Given the description of an element on the screen output the (x, y) to click on. 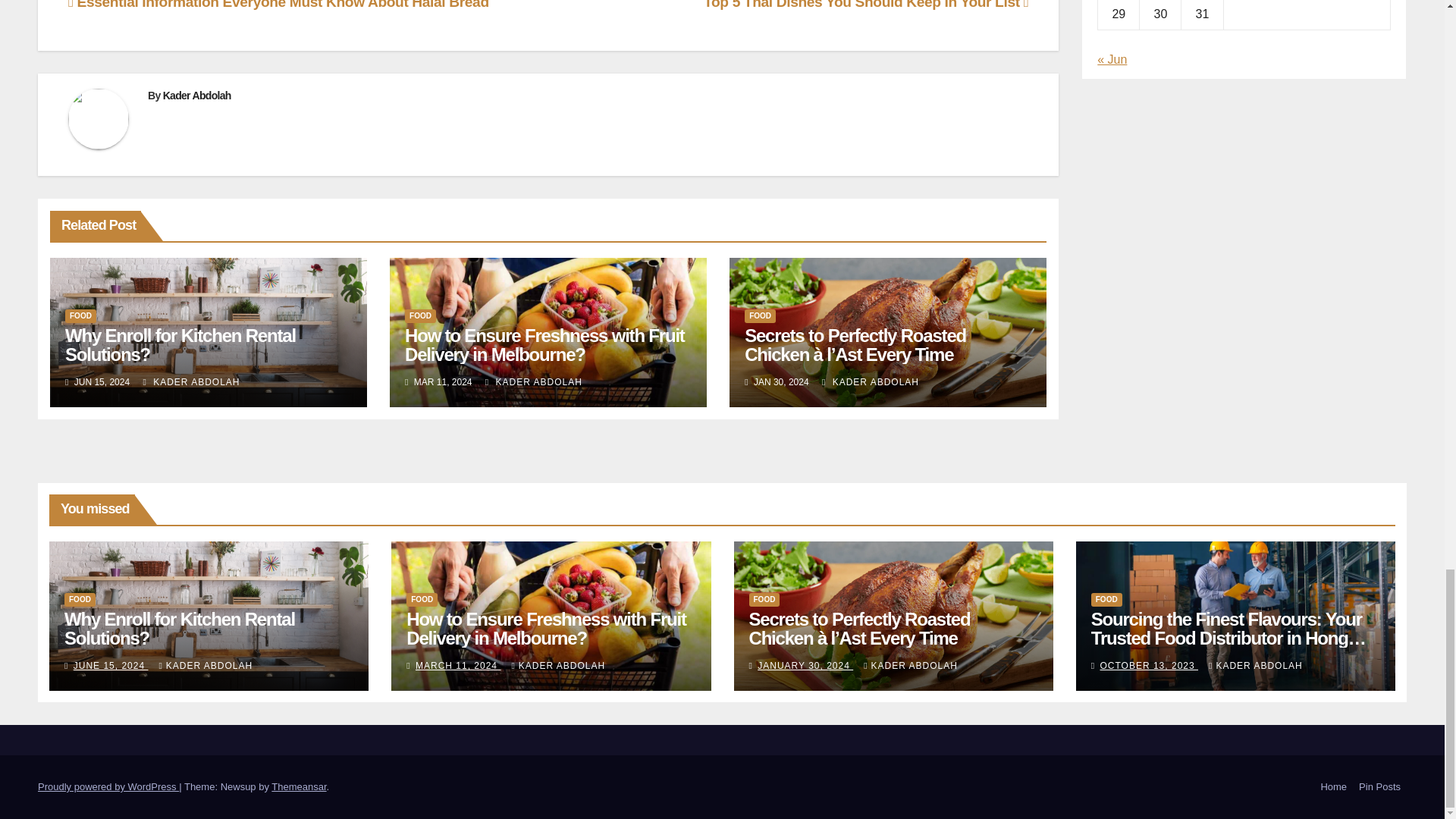
KADER ABDOLAH (533, 381)
FOOD (419, 315)
Essential Information Everyone Must Know About Halal Bread (278, 4)
Kader Abdolah (197, 95)
FOOD (760, 315)
FOOD (80, 315)
Why Enroll for Kitchen Rental Solutions? (180, 344)
KADER ABDOLAH (191, 381)
Permalink to: Why Enroll for Kitchen Rental Solutions? (180, 344)
Top 5 Thai Dishes You Should Keep In Your List (865, 4)
How to Ensure Freshness with Fruit Delivery in Melbourne? (544, 344)
